Given the description of an element on the screen output the (x, y) to click on. 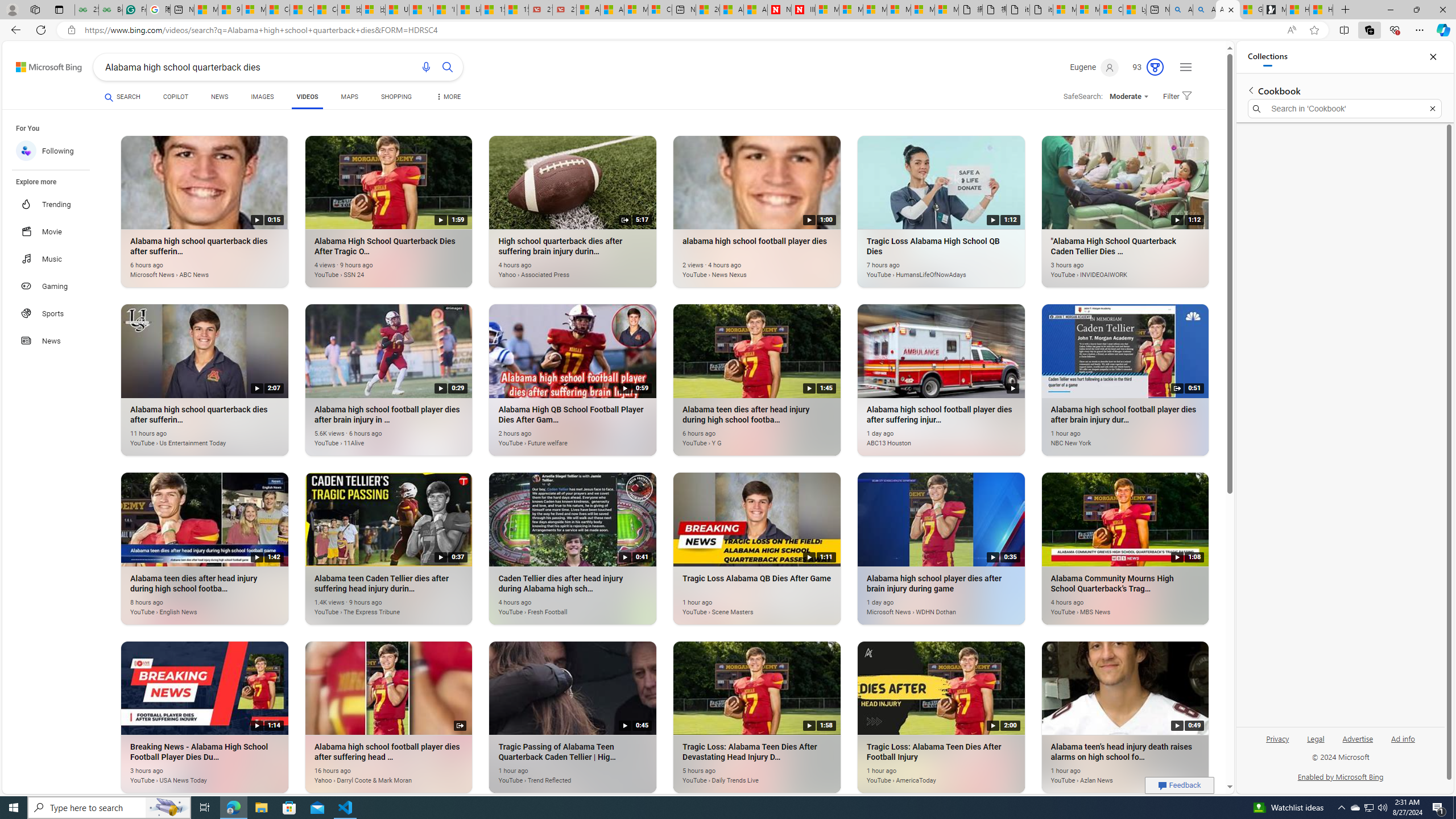
NEWS (218, 98)
Moderate (1129, 96)
MAPS (349, 98)
